Given the description of an element on the screen output the (x, y) to click on. 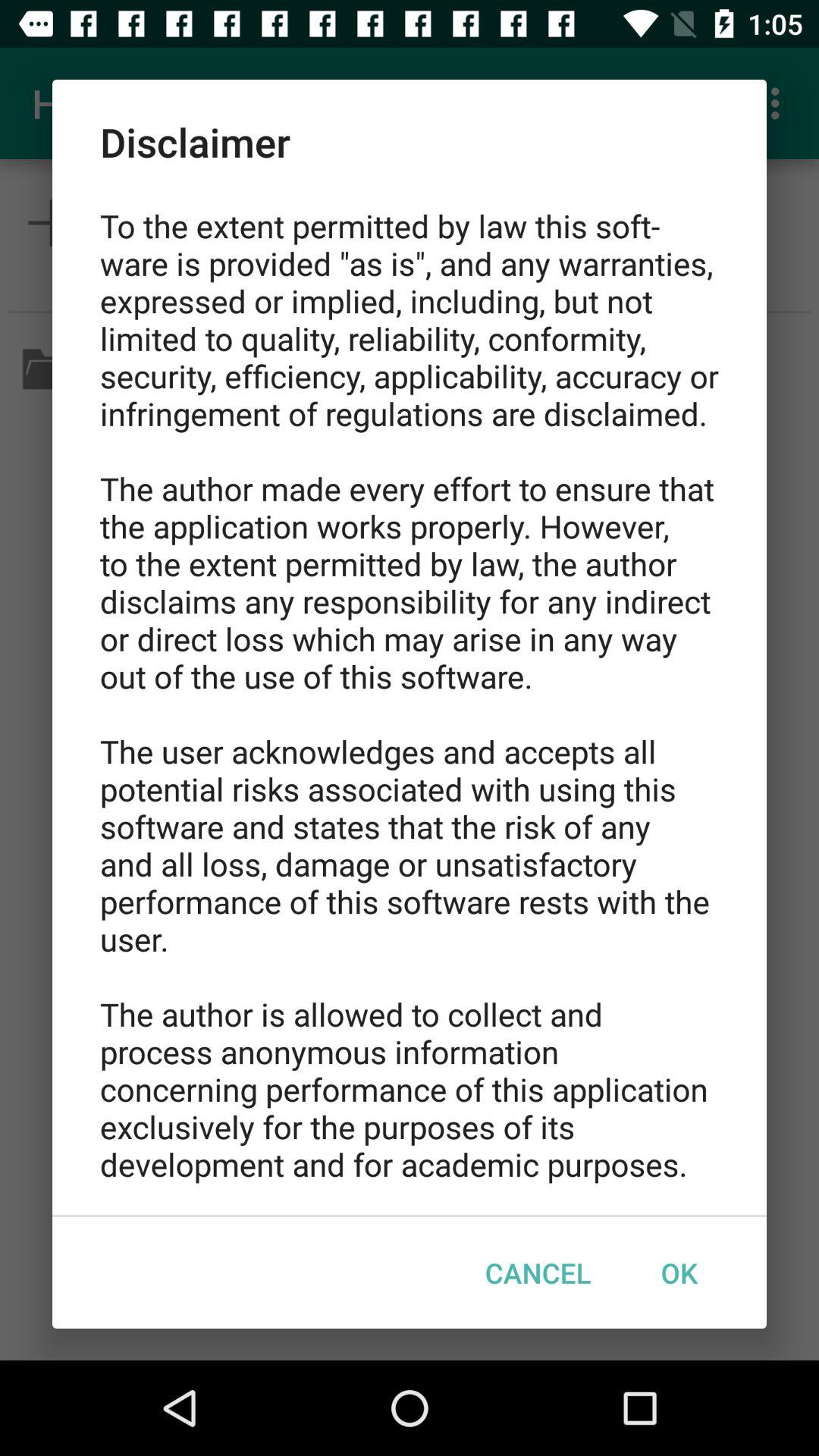
launch the icon next to the cancel item (678, 1272)
